Given the description of an element on the screen output the (x, y) to click on. 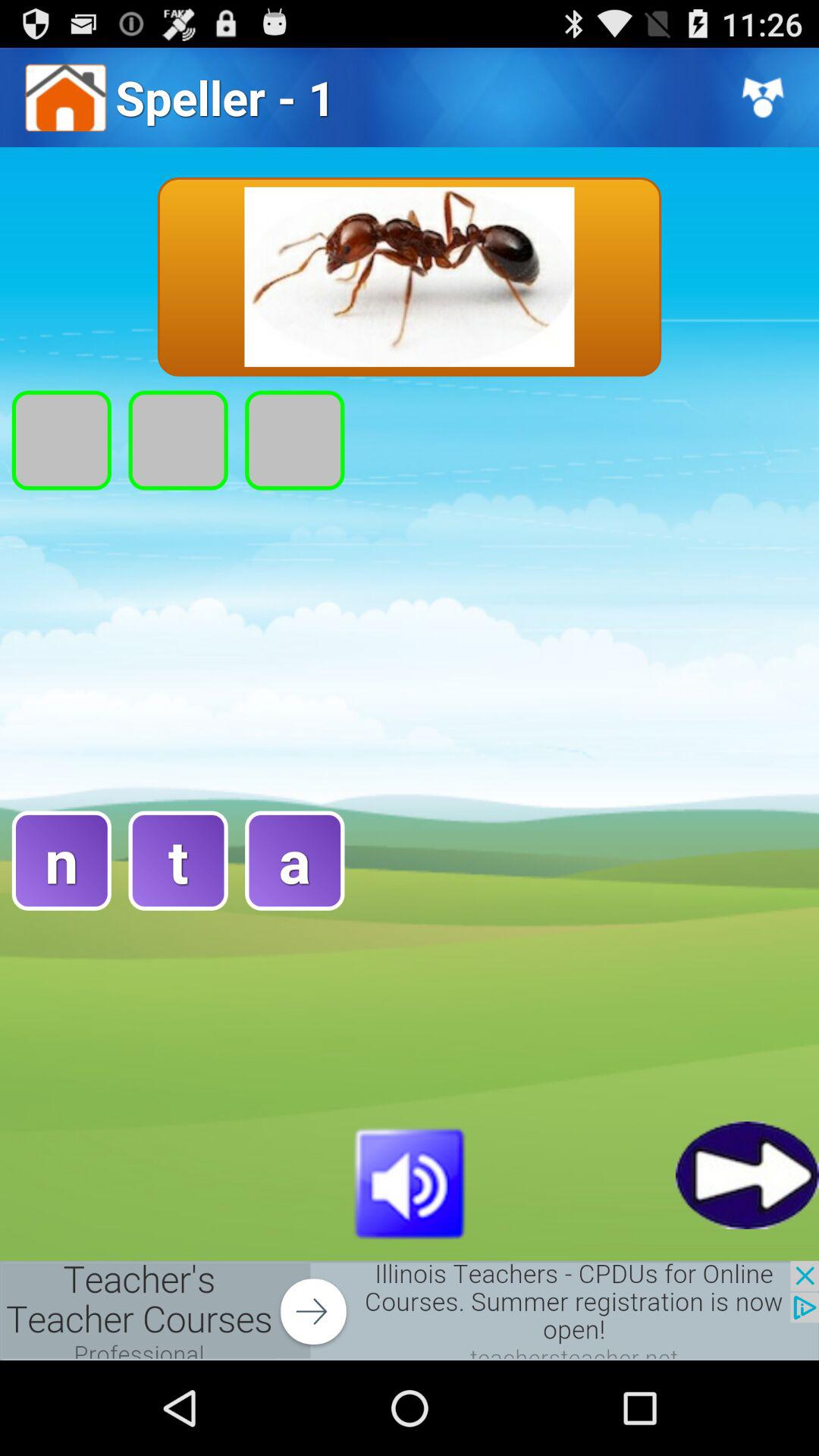
go forward (747, 1175)
